Given the description of an element on the screen output the (x, y) to click on. 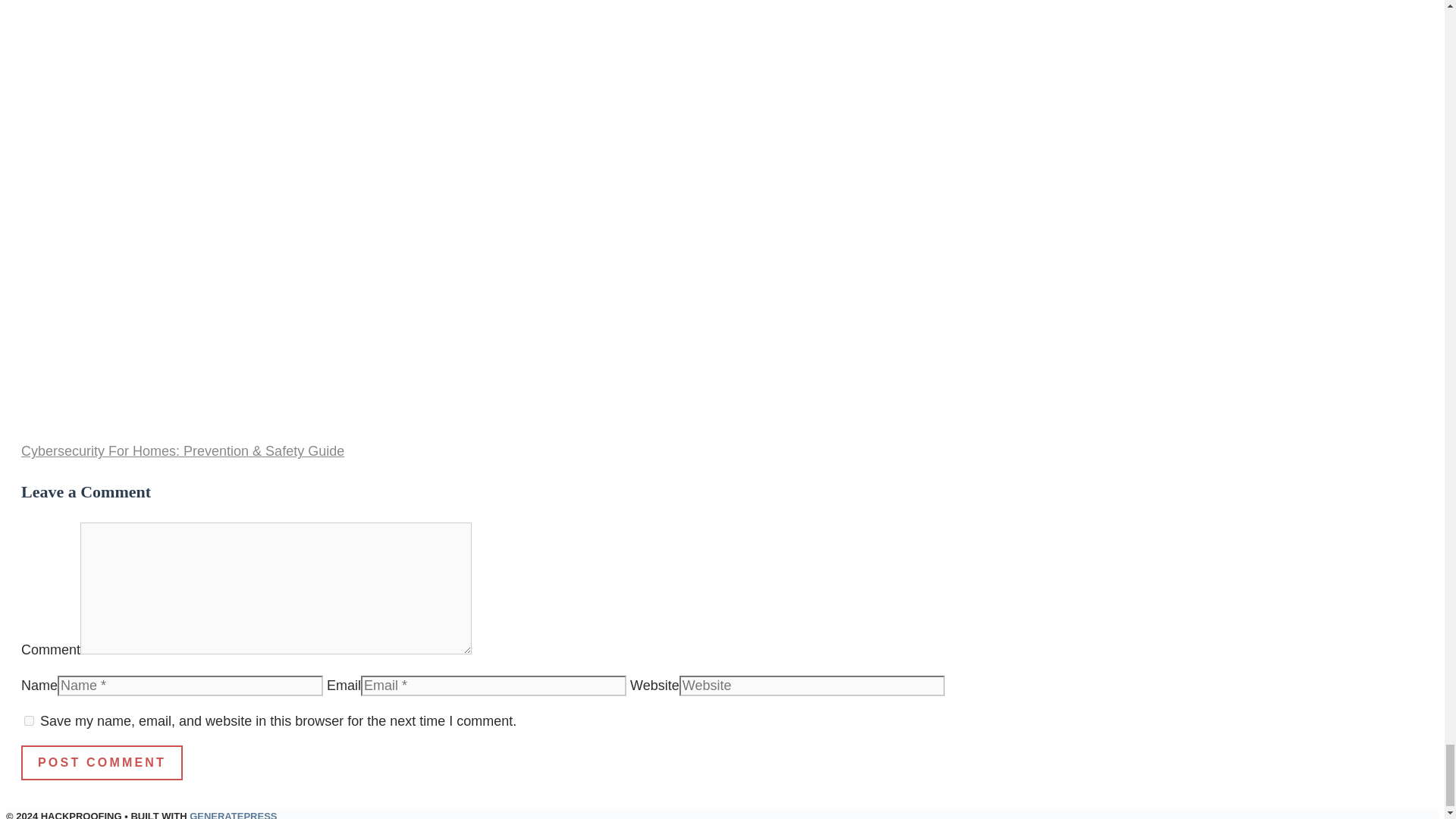
Post Comment (102, 762)
Next (182, 450)
Post Comment (102, 762)
yes (28, 720)
